Given the description of an element on the screen output the (x, y) to click on. 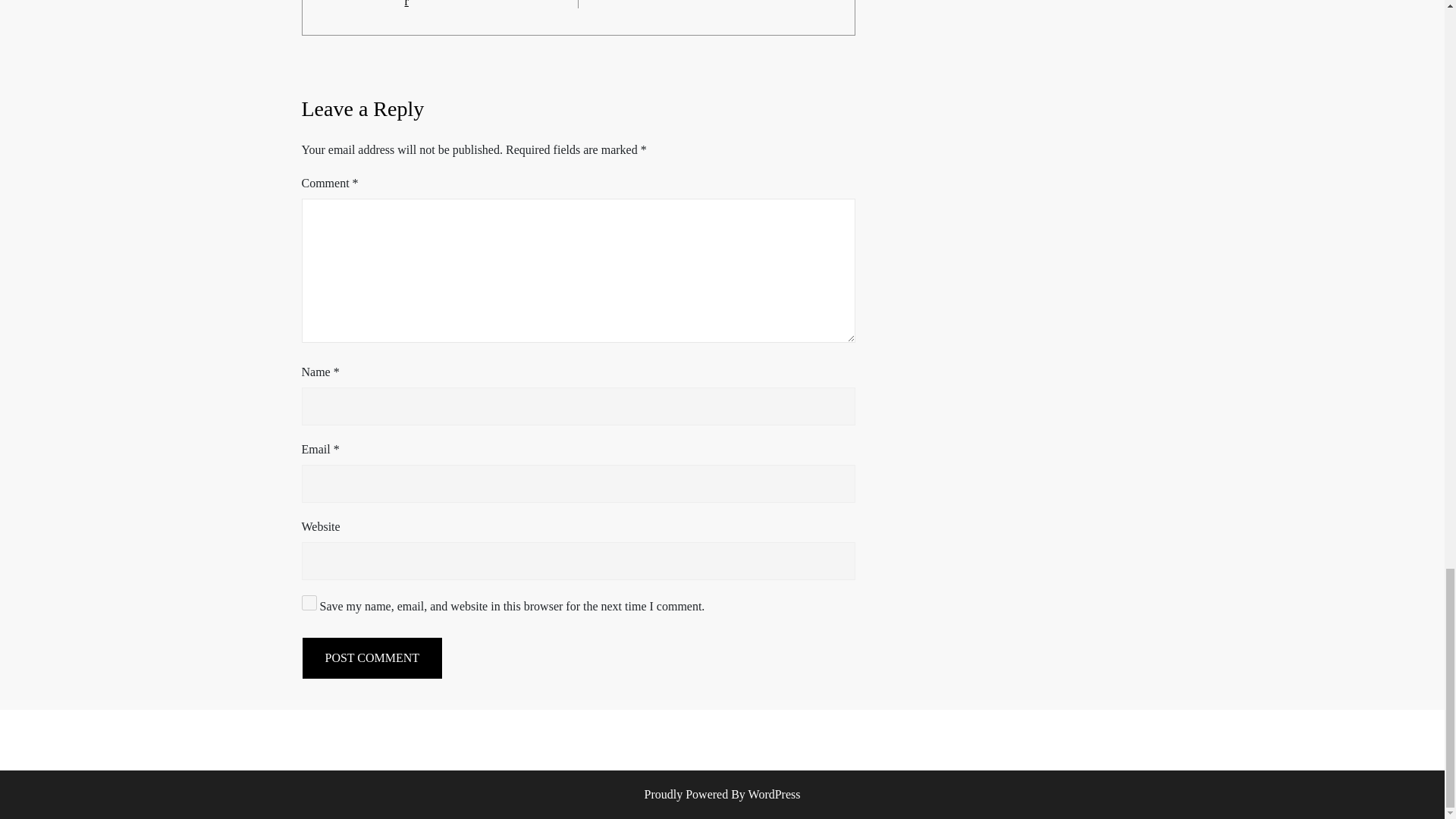
yes (309, 602)
Post Comment (372, 658)
